Given the description of an element on the screen output the (x, y) to click on. 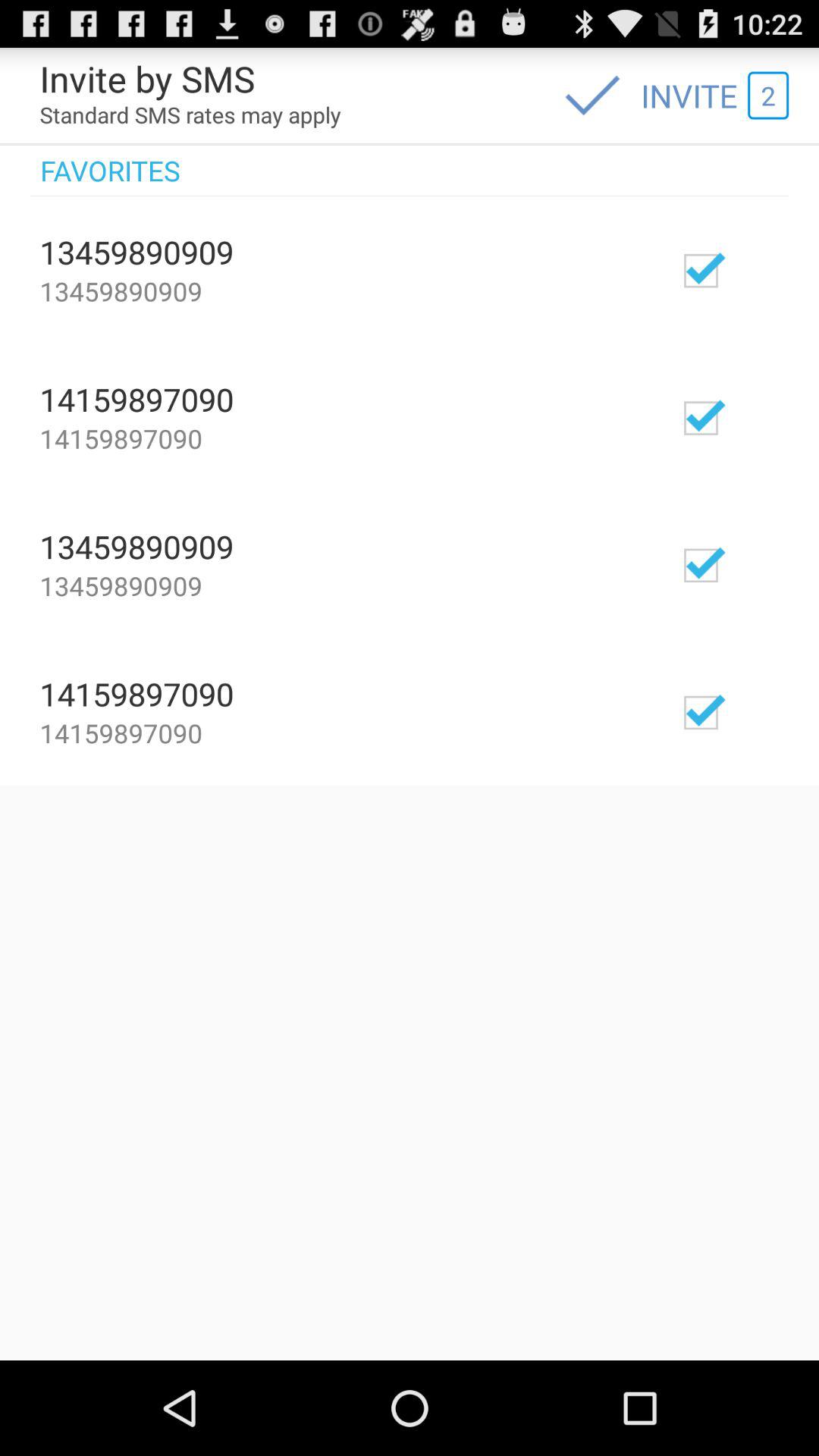
invite 14159897090 to your sms (745, 711)
